Given the description of an element on the screen output the (x, y) to click on. 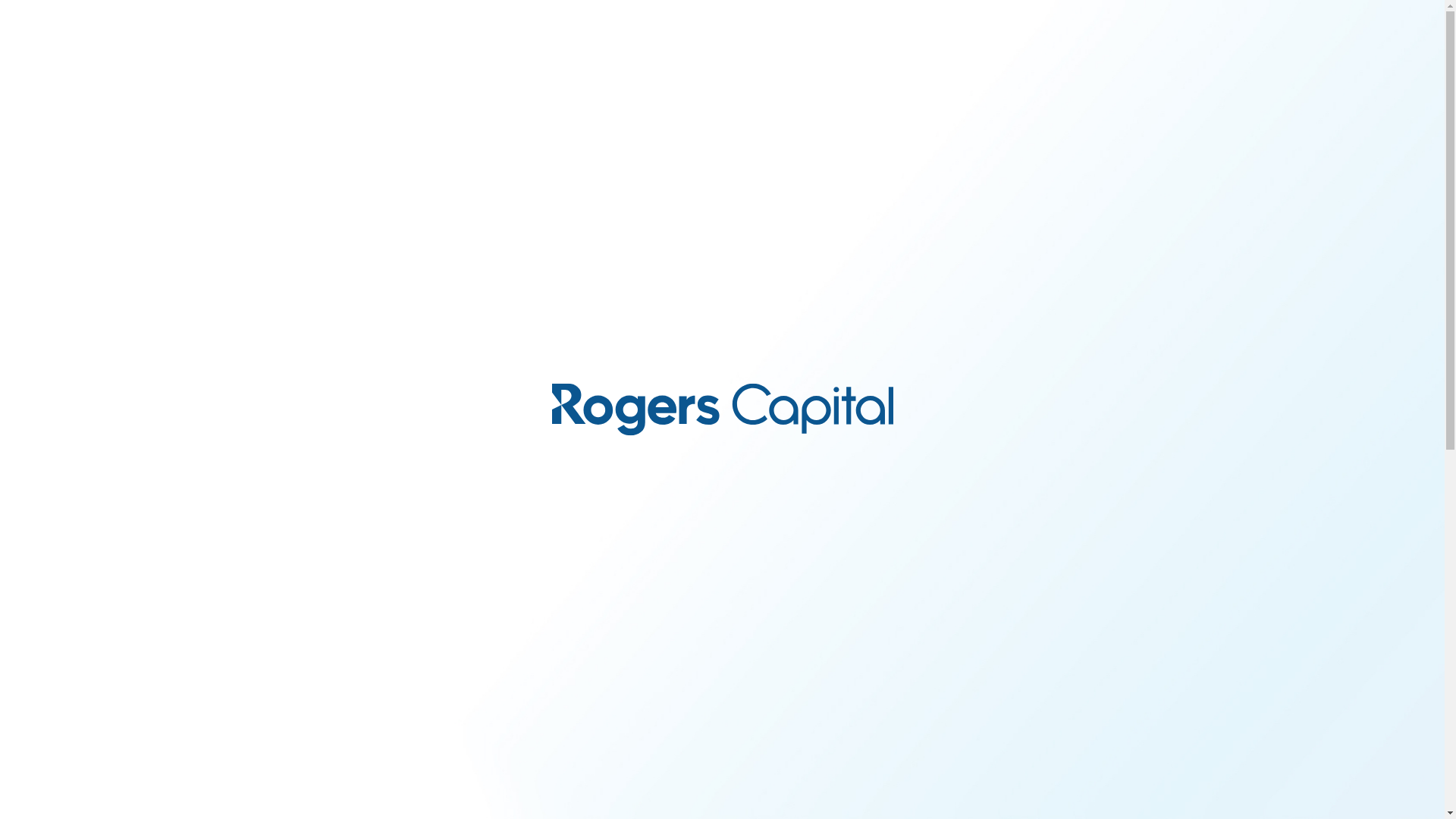
Sustainability (827, 57)
NEWSROOM (987, 57)
INSIGHTS (675, 57)
CONNECT NOW (1102, 56)
Careers (741, 57)
BACK TO HOMEPAGE (721, 593)
Services (915, 57)
CAREERS (741, 57)
SUSTAINABILITY (827, 57)
ABOUT US (609, 57)
SERVICES (915, 57)
About us (609, 57)
Insights (675, 57)
